Given the description of an element on the screen output the (x, y) to click on. 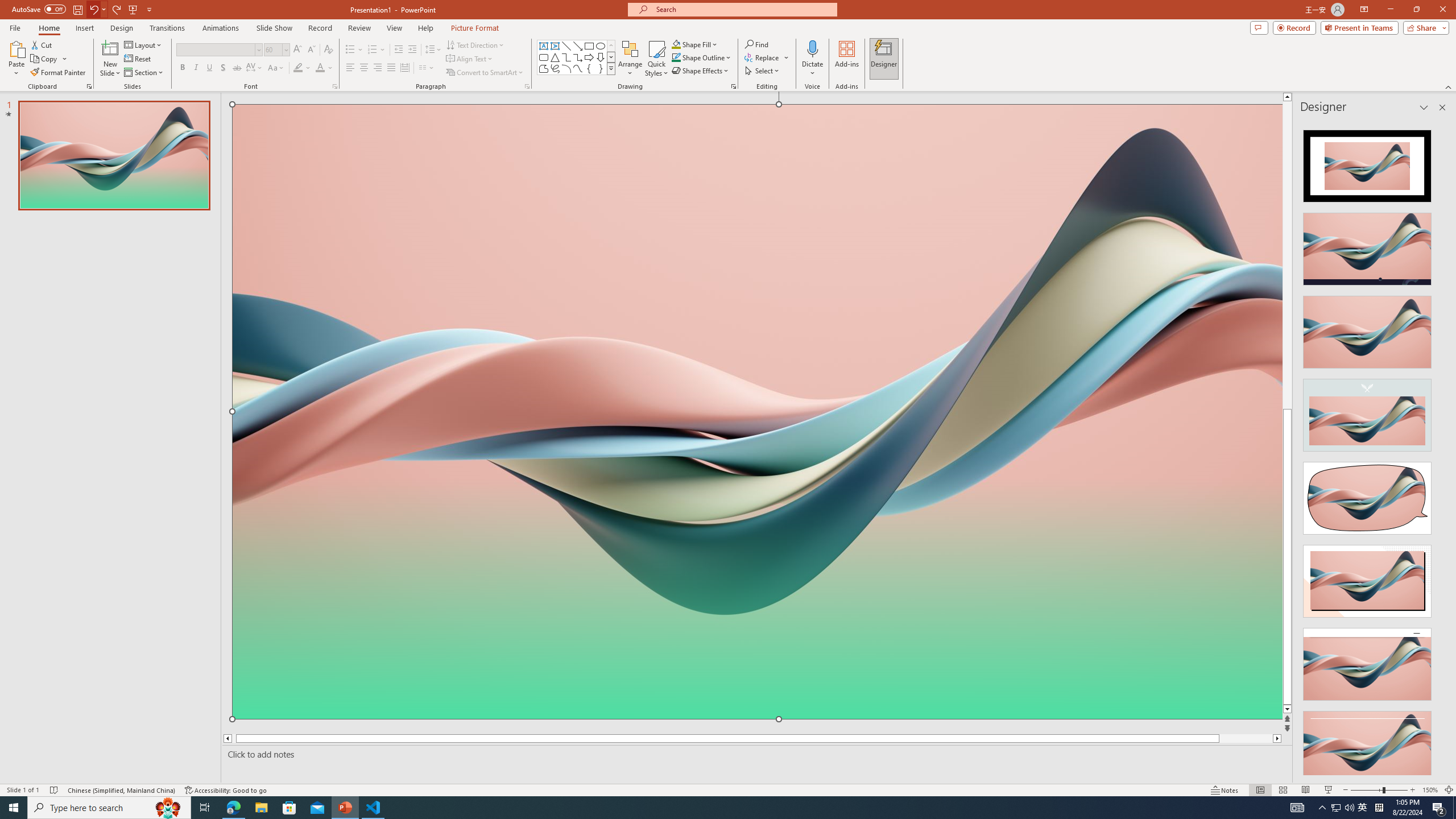
Zoom 150% (1430, 790)
